Given the description of an element on the screen output the (x, y) to click on. 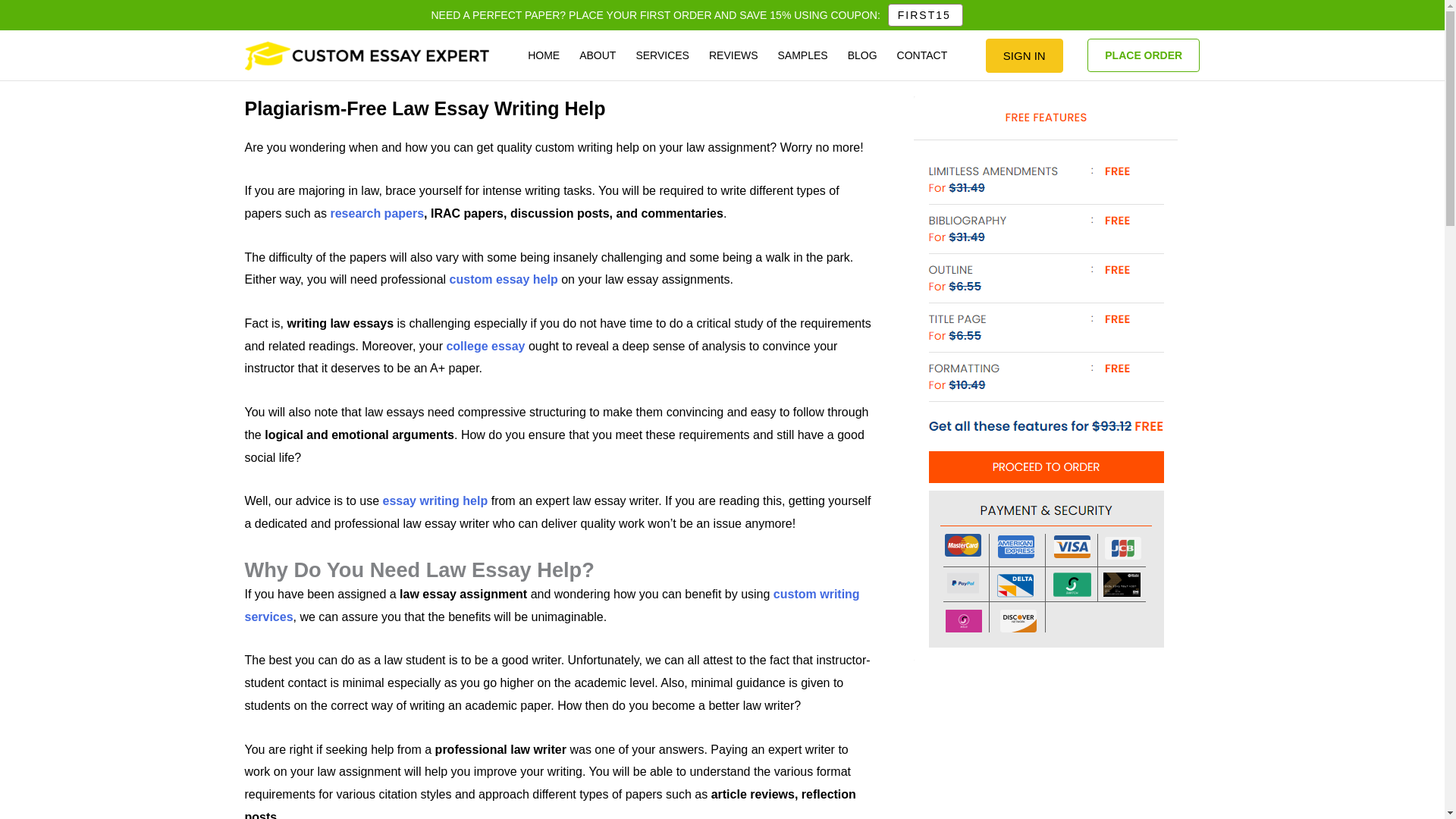
research papers (376, 213)
ABOUT (597, 54)
PLACE ORDER (1143, 55)
REVIEWS (733, 54)
CONTACT (922, 54)
SIGN IN (1023, 54)
HOME (543, 54)
FIRST15 (925, 15)
BLOG (862, 54)
essay writing help (434, 500)
custom essay help (505, 278)
SAMPLES (803, 54)
SERVICES (662, 54)
college essay (484, 345)
